Given the description of an element on the screen output the (x, y) to click on. 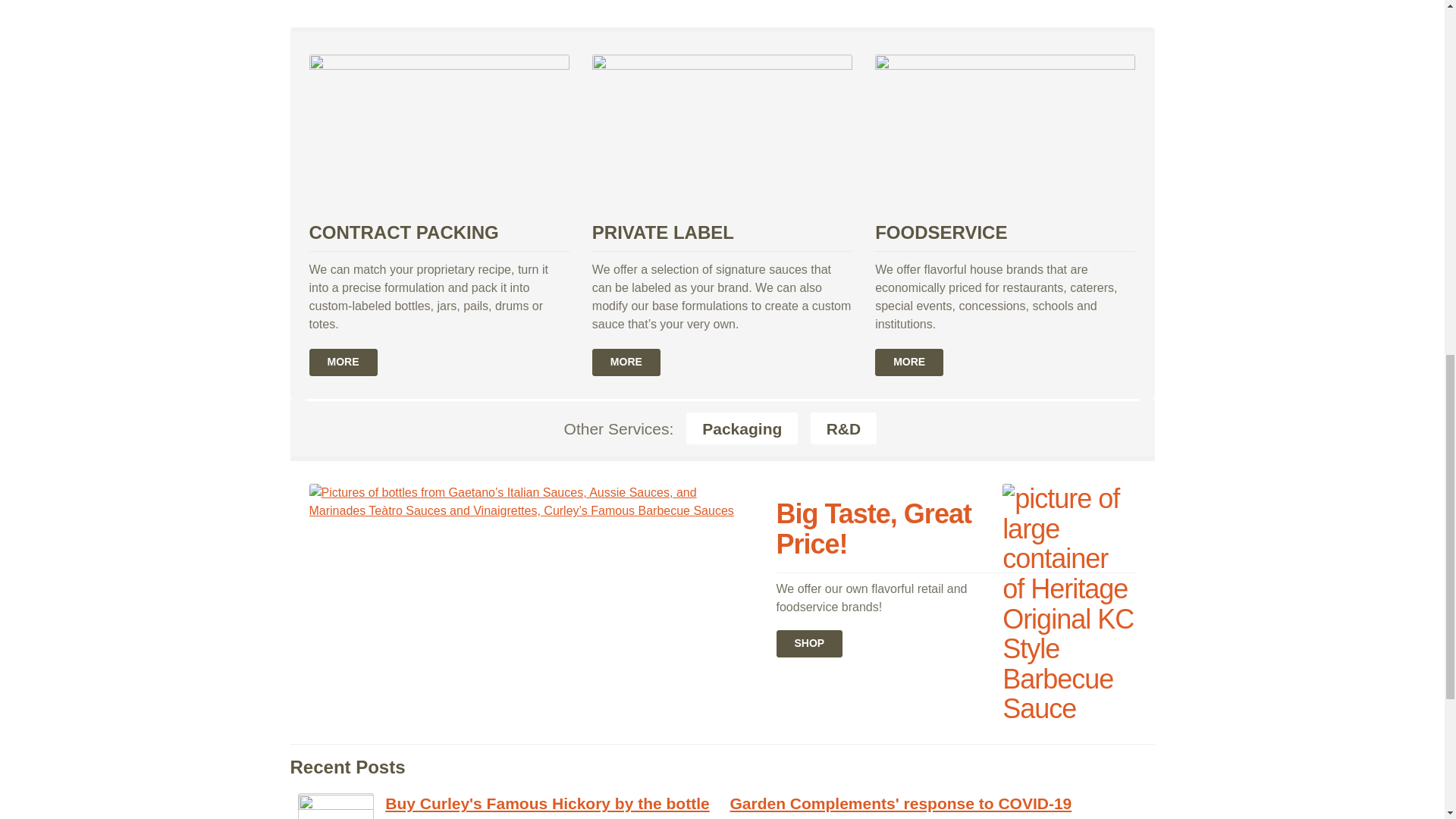
MORE (342, 361)
MORE (626, 361)
MORE (909, 361)
